Given the description of an element on the screen output the (x, y) to click on. 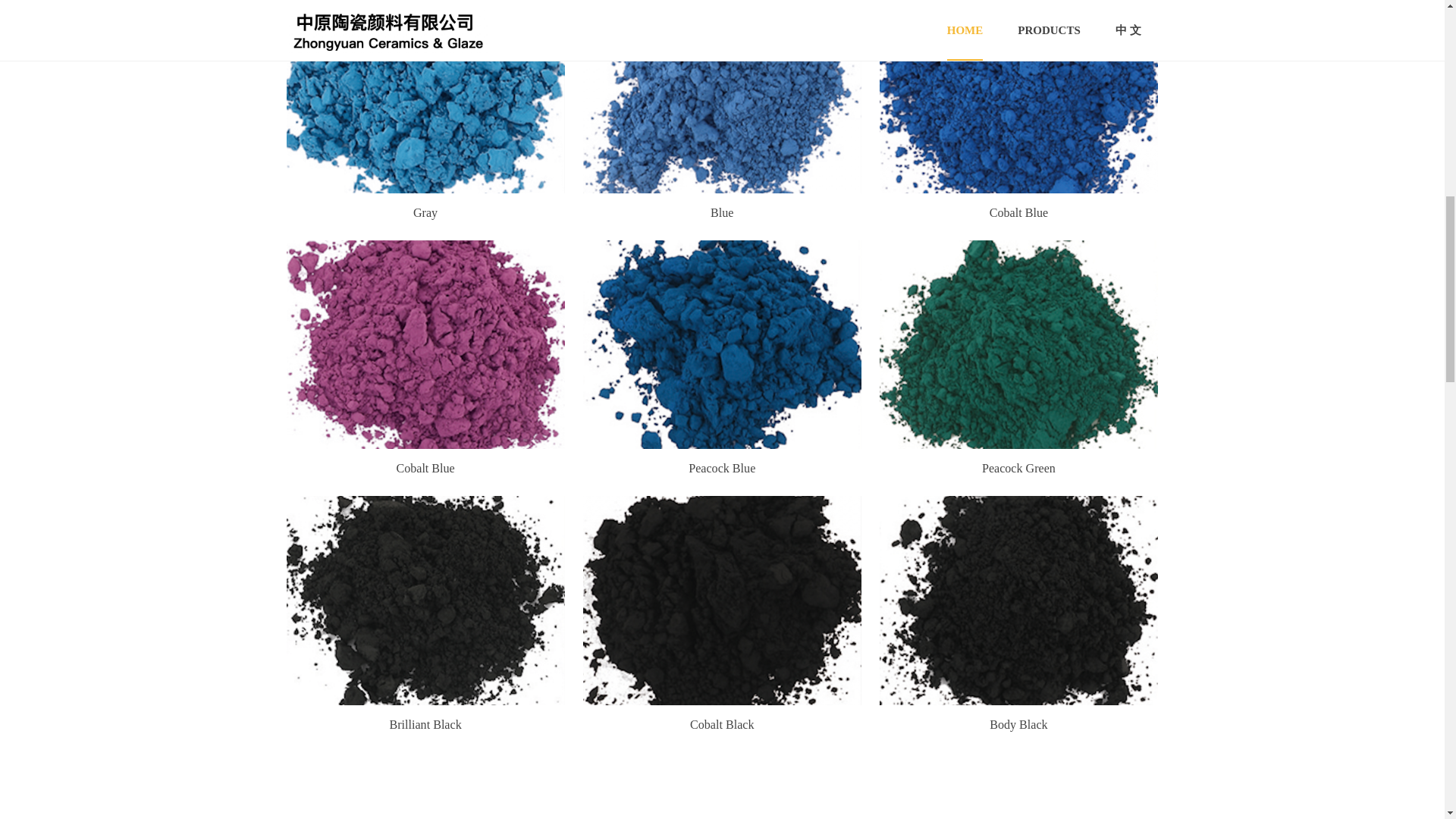
Brilliant Black (424, 724)
Gray (425, 214)
Body Black (1018, 724)
Cobalt Blue (425, 468)
Peacock Blue (721, 468)
Blue (721, 213)
Cobalt Blue (1019, 212)
Peacock Green (1018, 468)
Cobalt Black (722, 724)
